Given the description of an element on the screen output the (x, y) to click on. 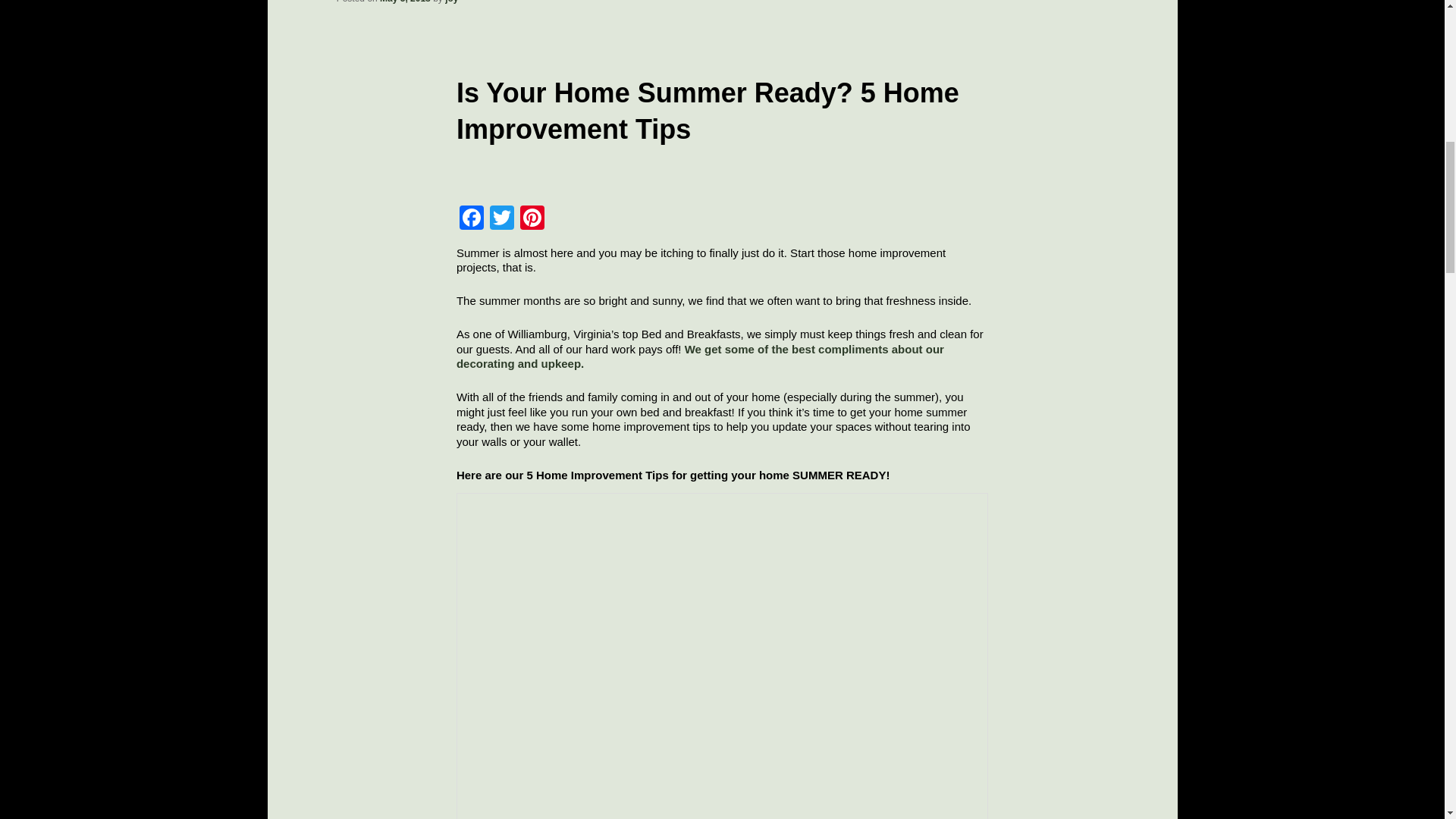
Facebook (471, 219)
Pinterest (531, 219)
View all posts by joy (451, 2)
May 5, 2018 (405, 2)
Facebook (471, 219)
Twitter (501, 219)
Pinterest (531, 219)
Twitter (501, 219)
11:32 pm (405, 2)
joy (451, 2)
